Given the description of an element on the screen output the (x, y) to click on. 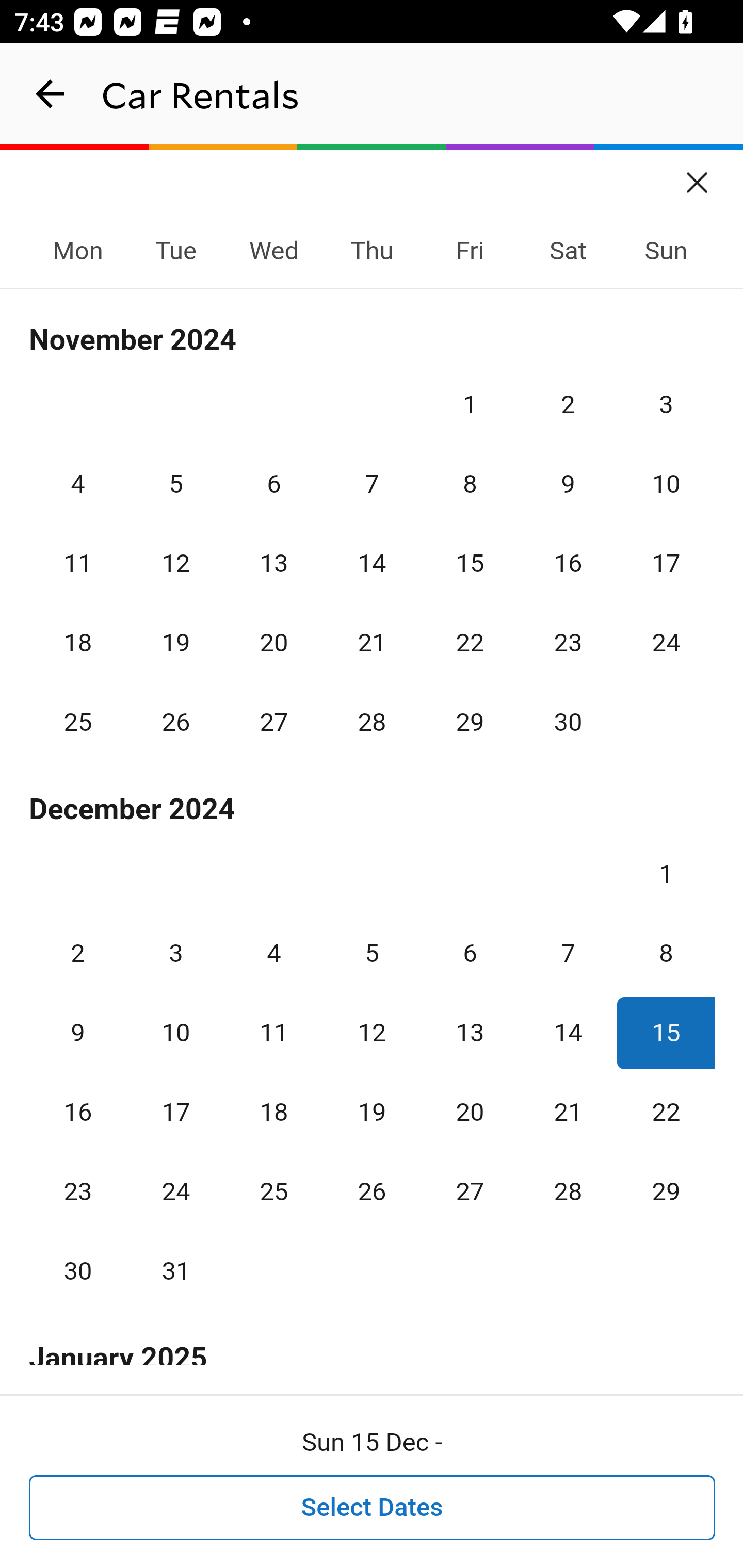
navigation_button (50, 93)
Close (697, 176)
1 November 2024 (470, 404)
2 November 2024 (567, 404)
3 November 2024 (665, 404)
4 November 2024 (77, 484)
5 November 2024 (175, 484)
6 November 2024 (273, 484)
7 November 2024 (371, 484)
8 November 2024 (470, 484)
9 November 2024 (567, 484)
10 November 2024 (665, 484)
11 November 2024 (77, 563)
12 November 2024 (175, 563)
13 November 2024 (273, 563)
14 November 2024 (371, 563)
15 November 2024 (470, 563)
16 November 2024 (567, 563)
17 November 2024 (665, 563)
18 November 2024 (77, 642)
19 November 2024 (175, 642)
20 November 2024 (273, 642)
21 November 2024 (371, 642)
22 November 2024 (470, 642)
23 November 2024 (567, 642)
24 November 2024 (665, 642)
25 November 2024 (77, 722)
26 November 2024 (175, 722)
27 November 2024 (273, 722)
28 November 2024 (371, 722)
29 November 2024 (470, 722)
30 November 2024 (567, 722)
1 December 2024 (665, 873)
2 December 2024 (77, 952)
3 December 2024 (175, 952)
4 December 2024 (273, 952)
5 December 2024 (371, 952)
6 December 2024 (470, 952)
7 December 2024 (567, 952)
8 December 2024 (665, 952)
9 December 2024 (77, 1032)
10 December 2024 (175, 1032)
11 December 2024 (273, 1032)
12 December 2024 (371, 1032)
13 December 2024 (470, 1032)
14 December 2024 (567, 1032)
15 December 2024 (665, 1032)
16 December 2024 (77, 1112)
17 December 2024 (175, 1112)
18 December 2024 (273, 1112)
